Given the description of an element on the screen output the (x, y) to click on. 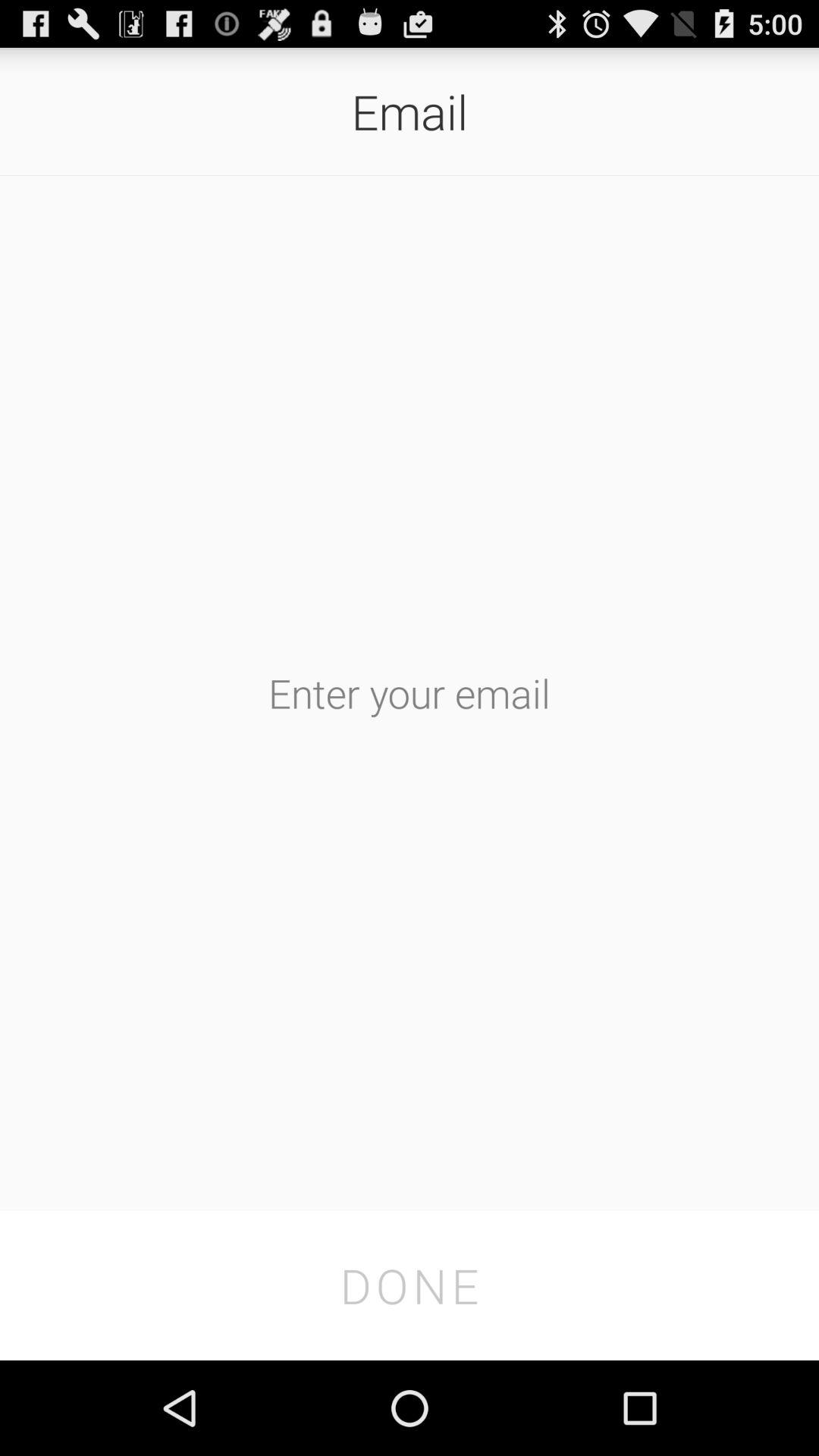
choose done icon (409, 1285)
